Given the description of an element on the screen output the (x, y) to click on. 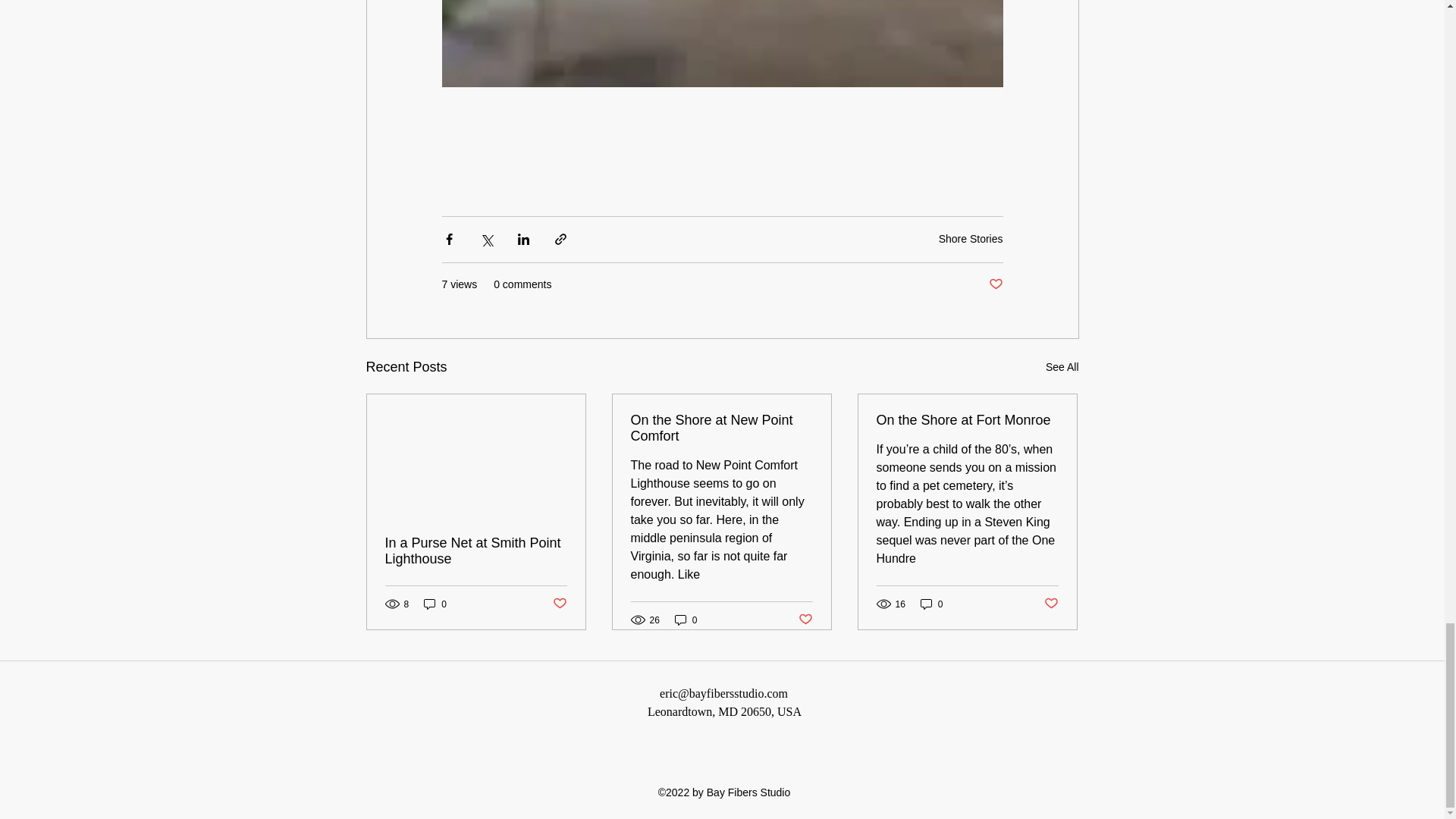
Post not marked as liked (995, 284)
Shore Stories (971, 238)
See All (1061, 367)
